Given the description of an element on the screen output the (x, y) to click on. 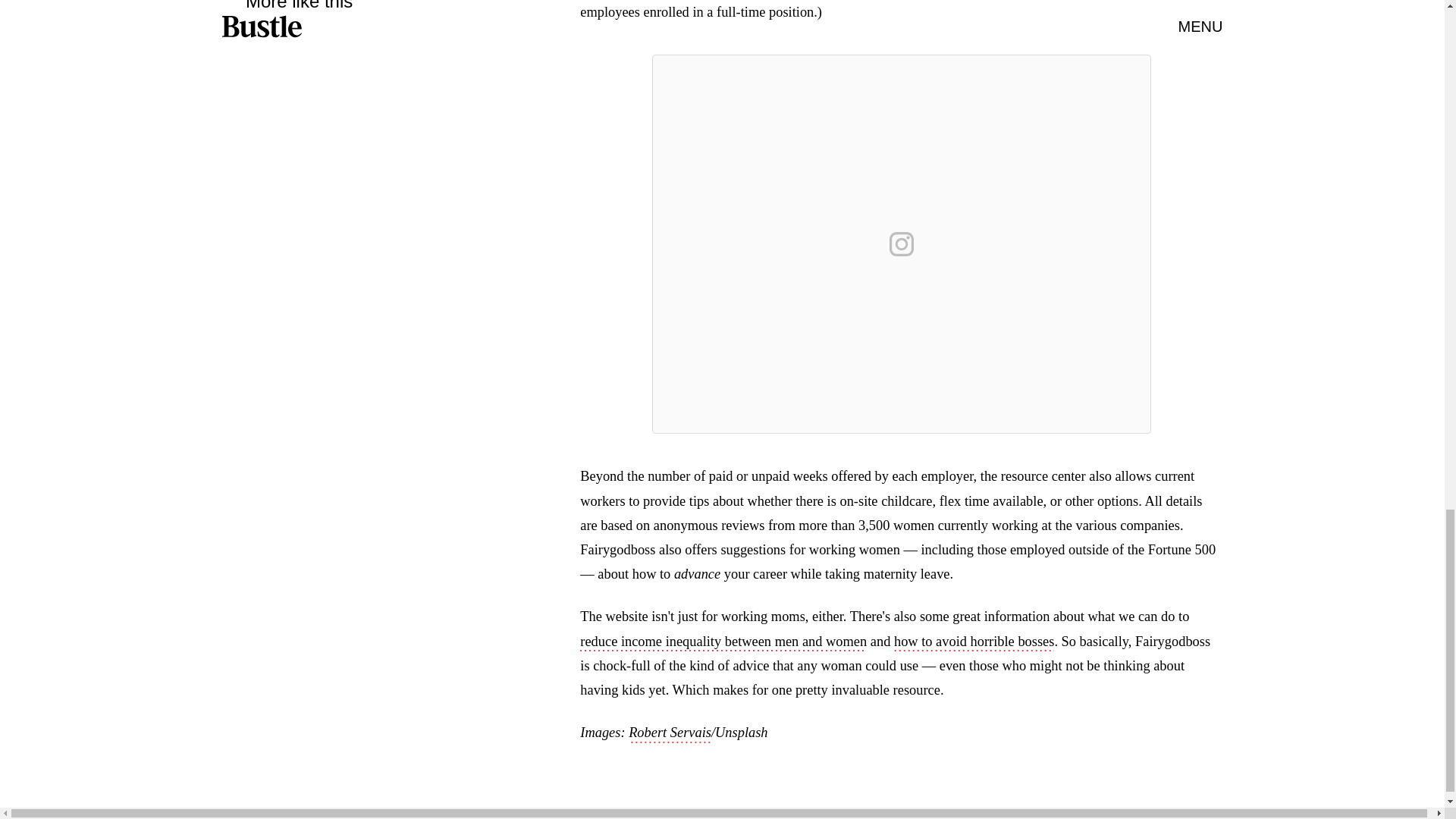
reduce income inequality between men and women (722, 642)
how to avoid horrible bosses (973, 642)
Robert Servais (669, 733)
View on Instagram (901, 244)
